Given the description of an element on the screen output the (x, y) to click on. 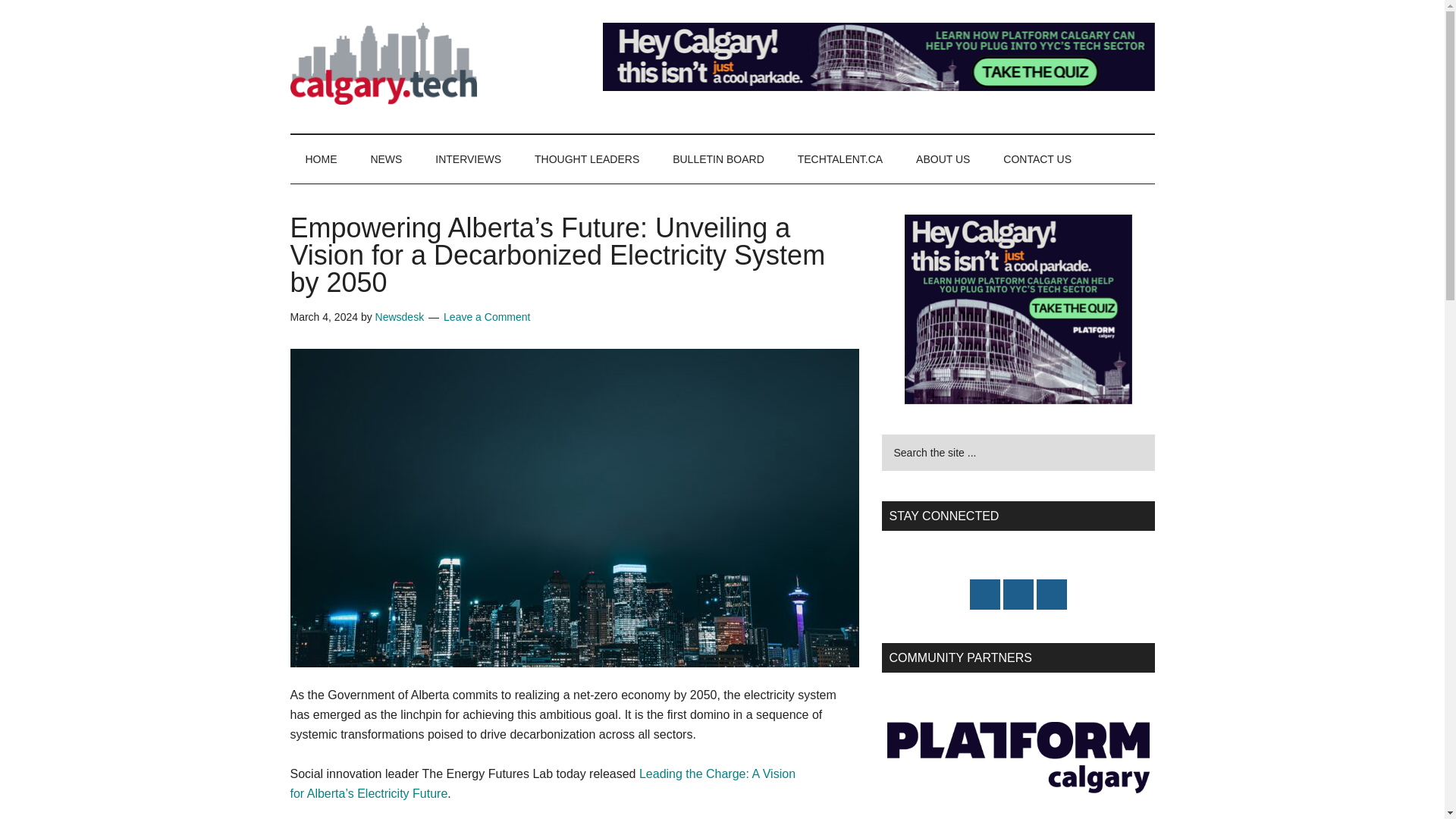
BULLETIN BOARD (718, 159)
TECHTALENT.CA (840, 159)
NEWS (385, 159)
HOME (320, 159)
Newsdesk (400, 316)
ABOUT US (943, 159)
THOUGHT LEADERS (586, 159)
Leave a Comment (486, 316)
INTERVIEWS (468, 159)
